Given the description of an element on the screen output the (x, y) to click on. 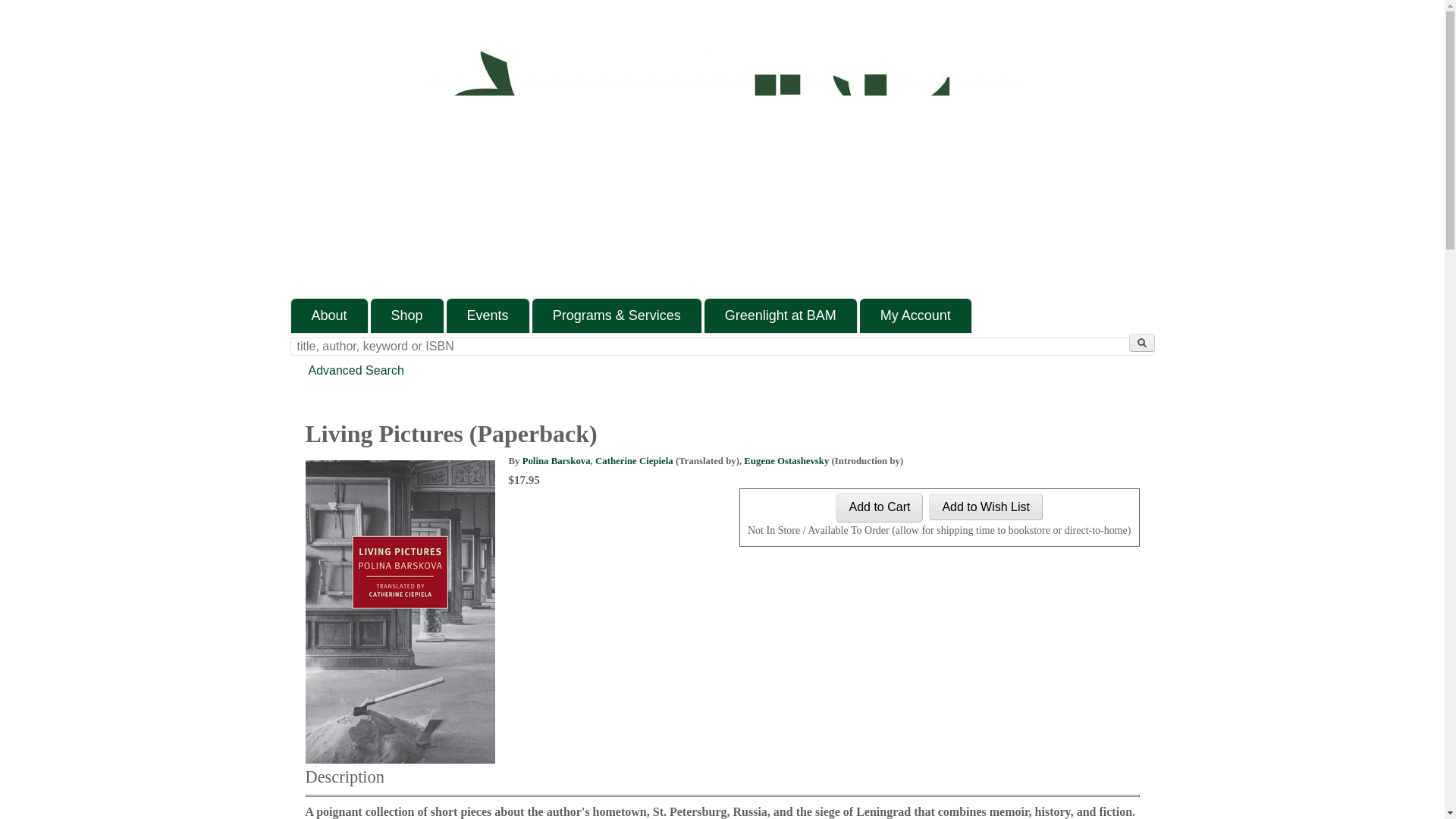
Shop (407, 315)
About (329, 315)
Add to Cart (879, 507)
Search (1141, 342)
